Given the description of an element on the screen output the (x, y) to click on. 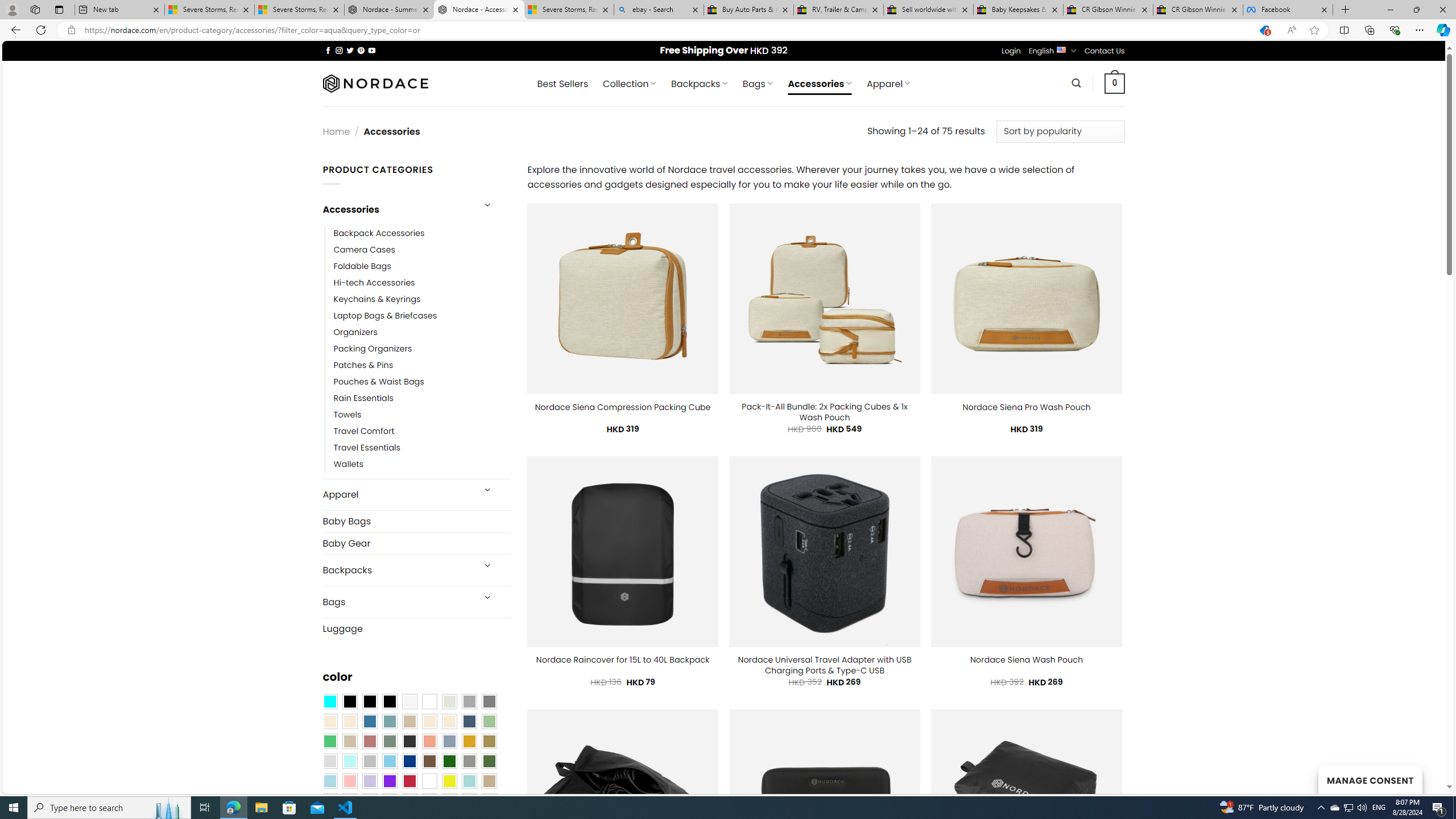
Baby Bags (416, 521)
Pink (349, 780)
Ash Gray (449, 701)
Hi-tech Accessories (373, 282)
Travel Comfort (363, 431)
Clear (429, 701)
Sage (389, 741)
Gray (468, 761)
All Gray (488, 701)
